Given the description of an element on the screen output the (x, y) to click on. 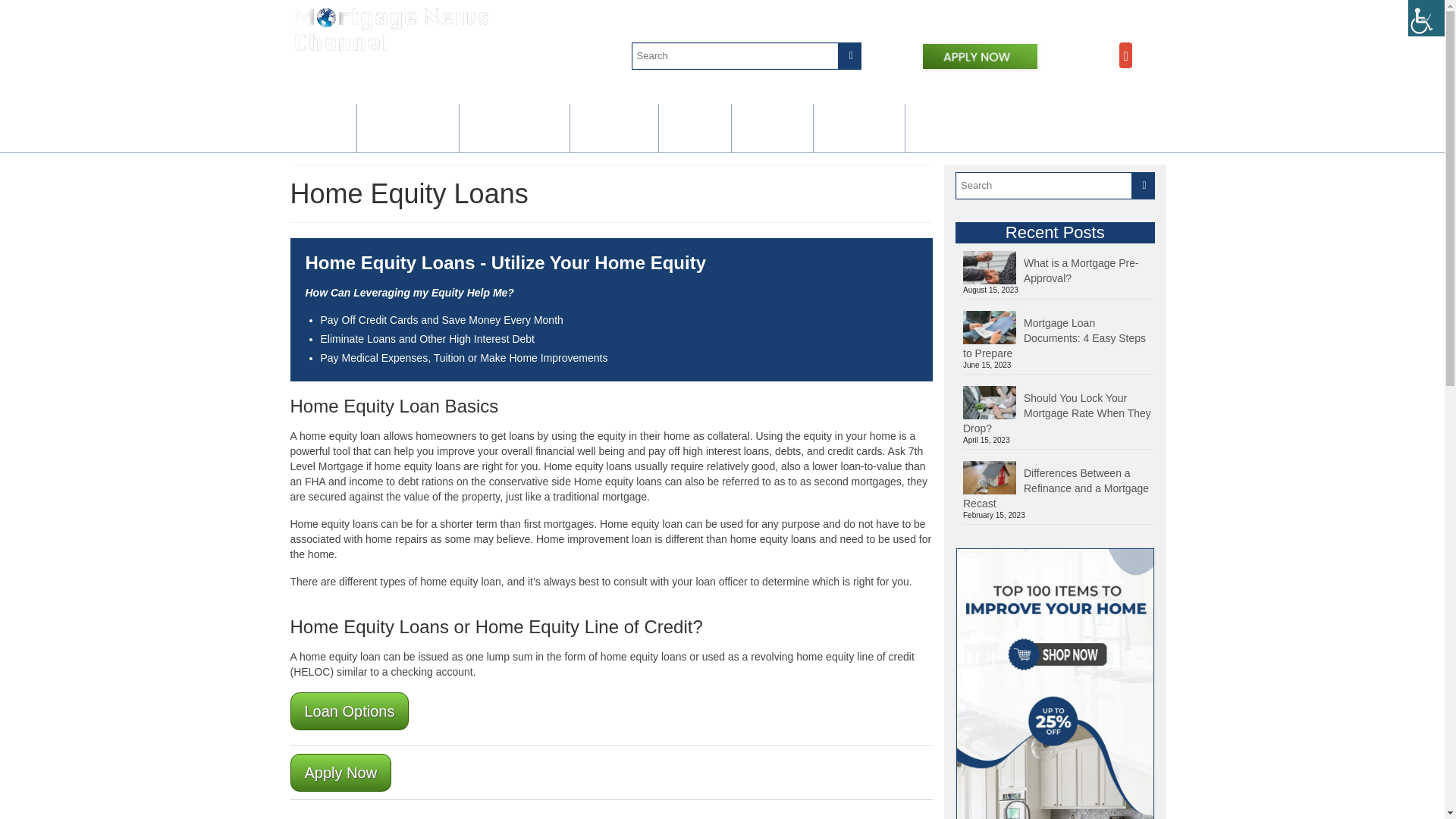
What is a Mortgage Pre-Approval? (1058, 267)
Mortgage News Channel (391, 29)
Send Email (1122, 16)
Mortgage Loan Documents: 4 Easy Steps to Prepare (1058, 336)
856-324-6749 (1034, 16)
